Given the description of an element on the screen output the (x, y) to click on. 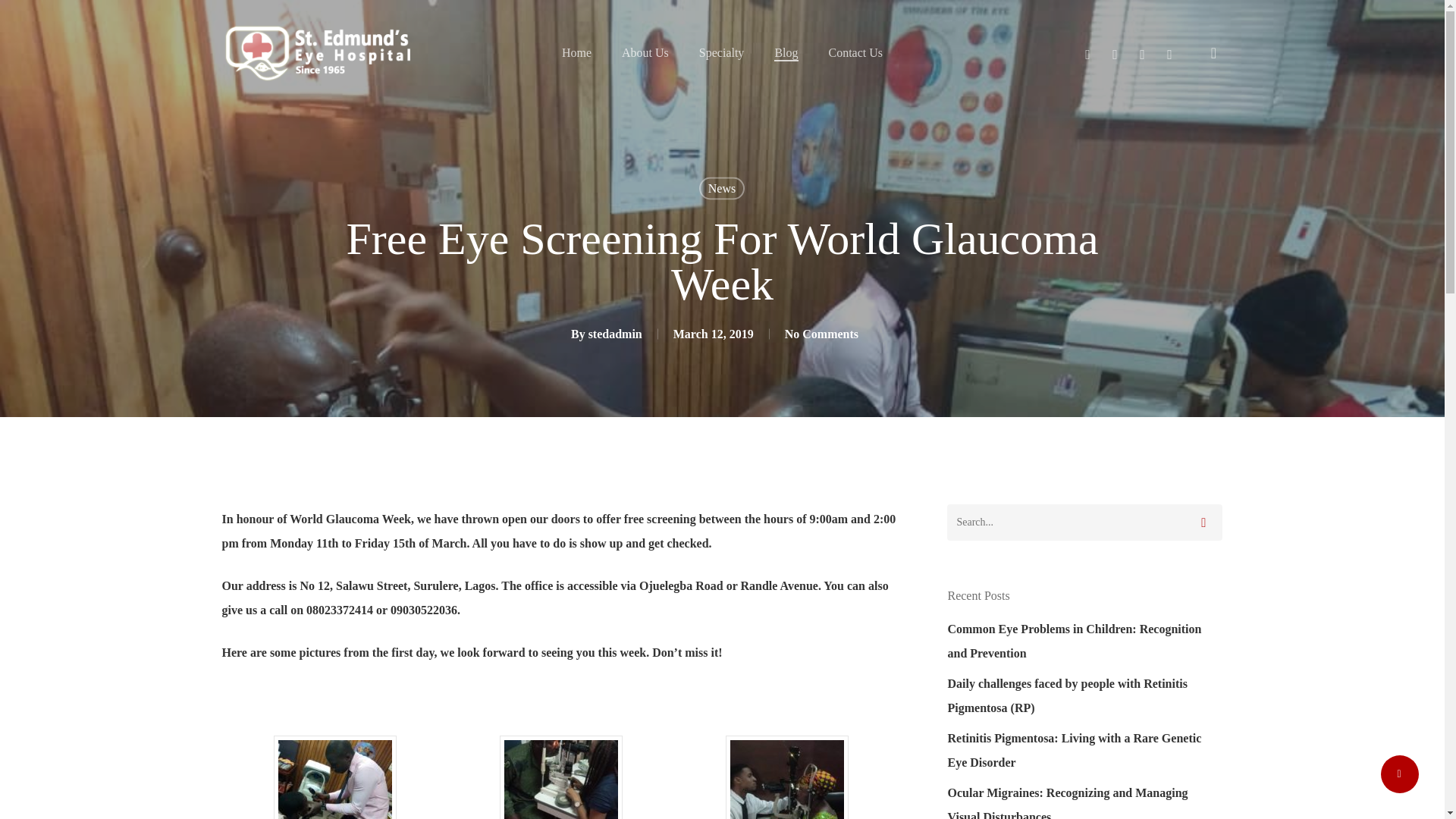
No Comments (821, 333)
Common Eye Problems in Children: Recognition and Prevention (1085, 641)
Search for: (1085, 522)
Posts by stedadmin (615, 333)
Instagram (1142, 52)
Youtube (1114, 52)
Facebook (1087, 52)
stedadmin (615, 333)
News (721, 188)
